Given the description of an element on the screen output the (x, y) to click on. 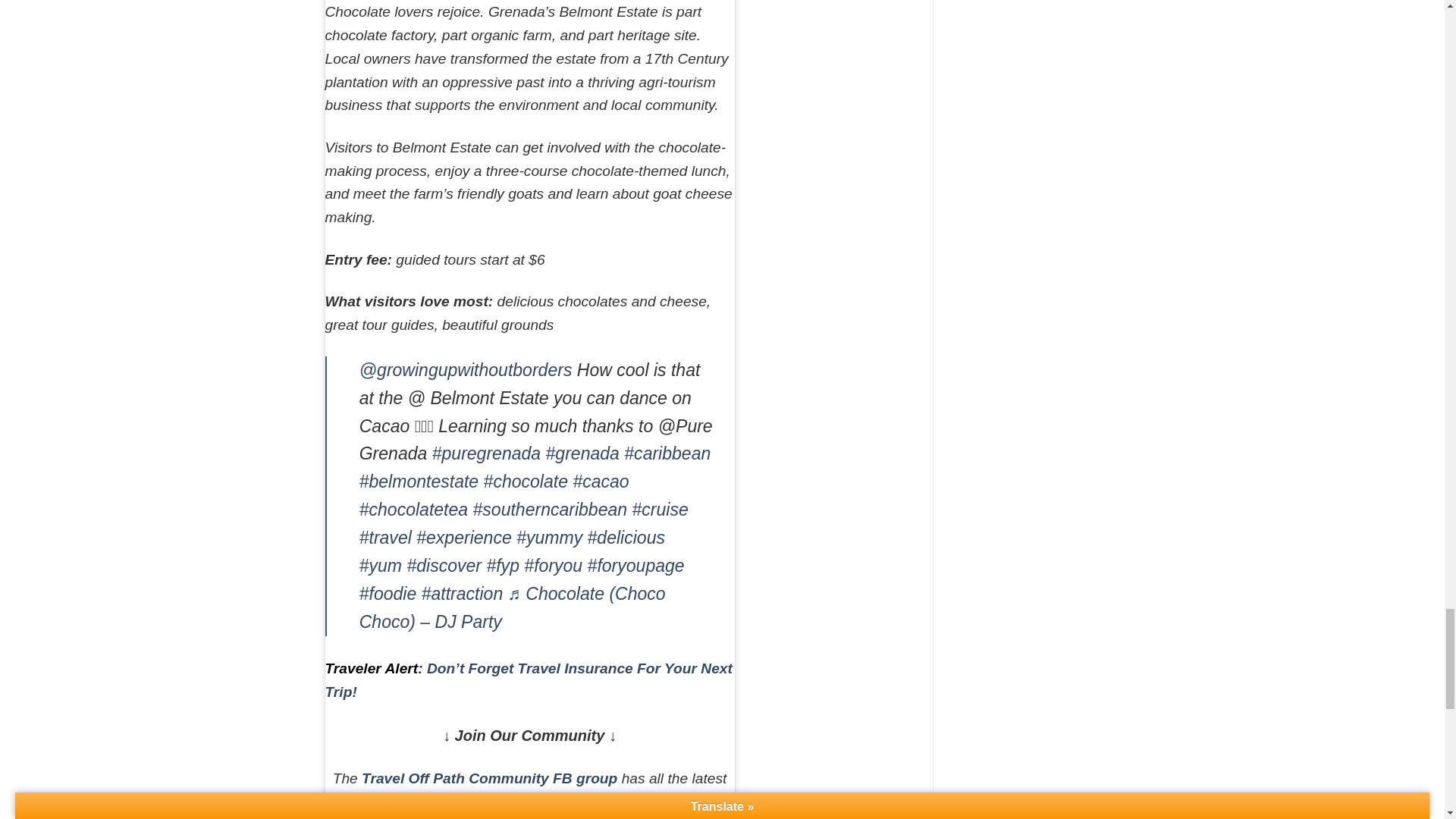
cacao (600, 481)
yummy (549, 537)
delicious (626, 537)
southerncaribbean (550, 509)
experience (463, 537)
travel (385, 537)
belmontestate (419, 481)
chocolatetea (413, 509)
puregrenada (486, 453)
grenada (583, 453)
